Given the description of an element on the screen output the (x, y) to click on. 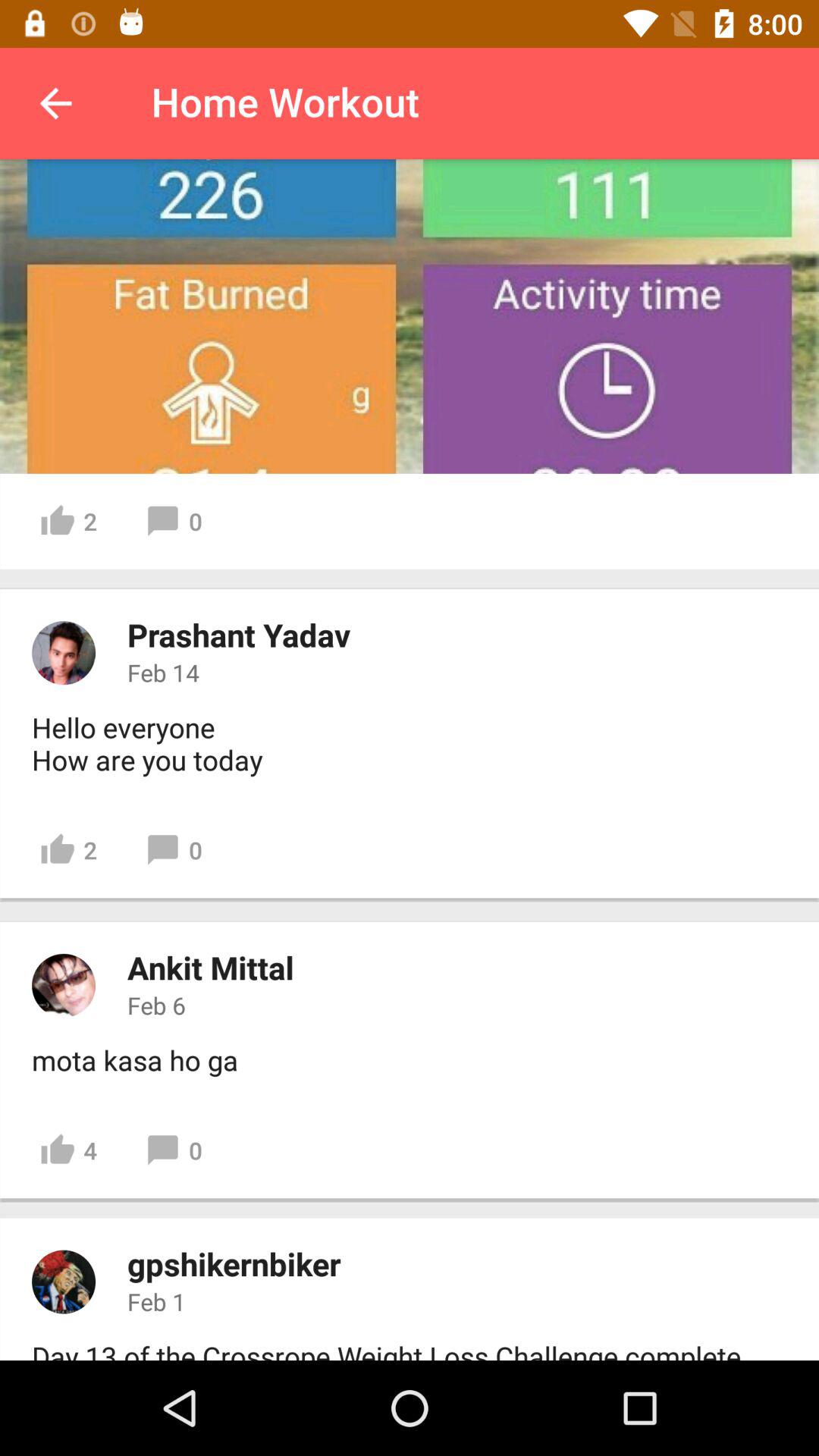
fat burned activity time (409, 316)
